Given the description of an element on the screen output the (x, y) to click on. 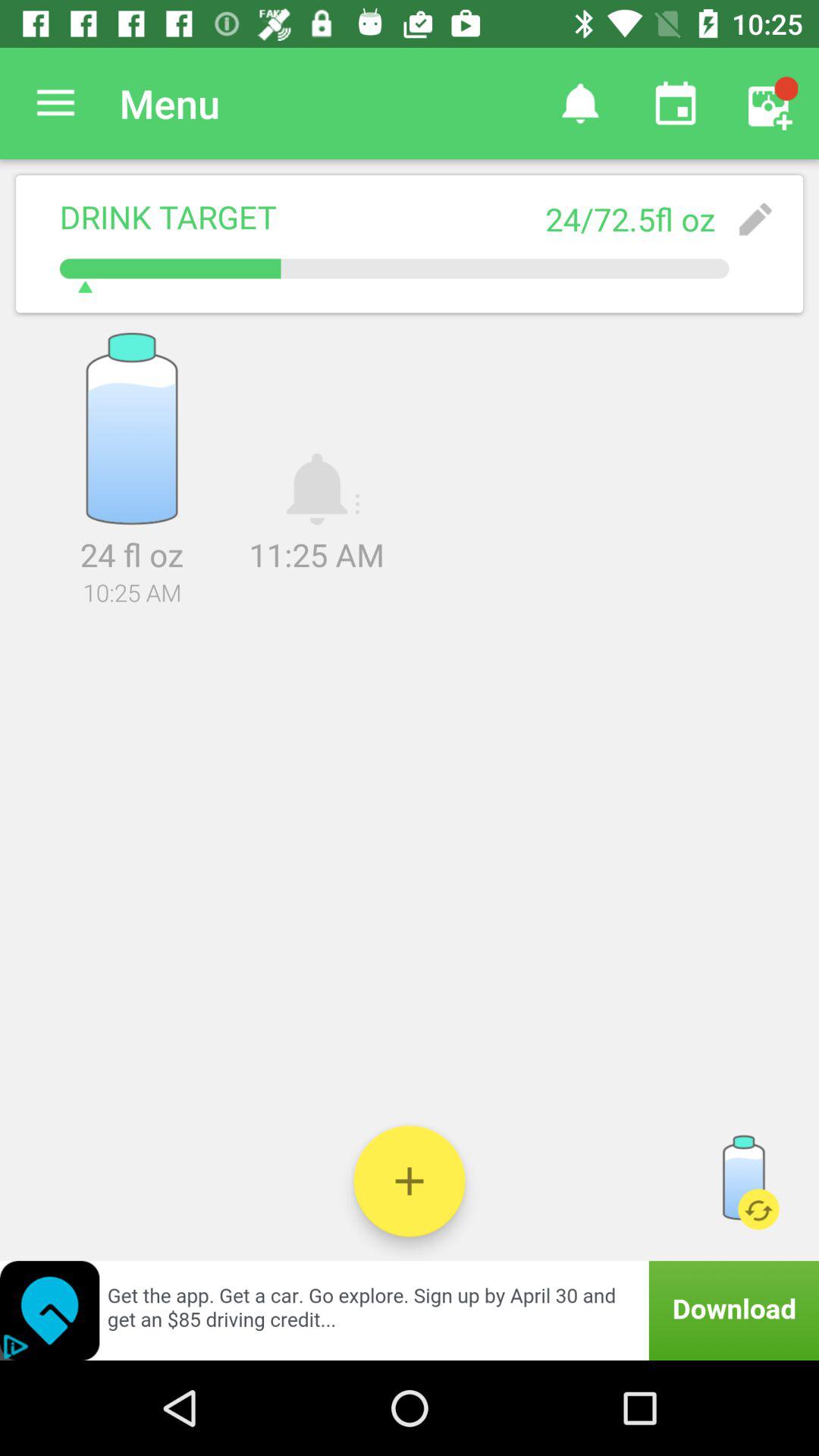
reset the water target (743, 1181)
